Given the description of an element on the screen output the (x, y) to click on. 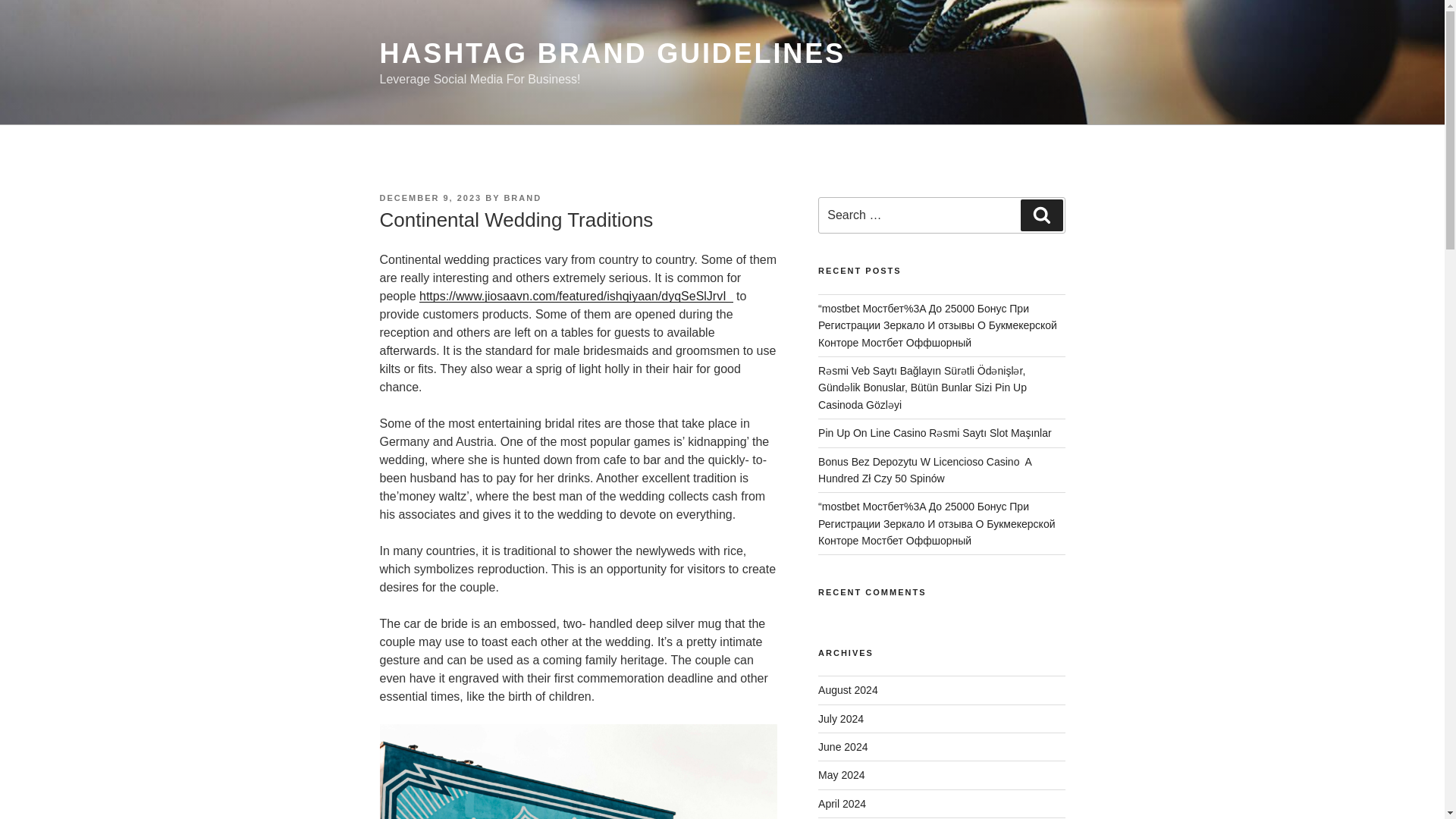
HASHTAG BRAND GUIDELINES (611, 52)
August 2024 (847, 689)
BRAND (522, 197)
DECEMBER 9, 2023 (429, 197)
May 2024 (841, 775)
June 2024 (842, 746)
July 2024 (840, 718)
April 2024 (842, 803)
